Given the description of an element on the screen output the (x, y) to click on. 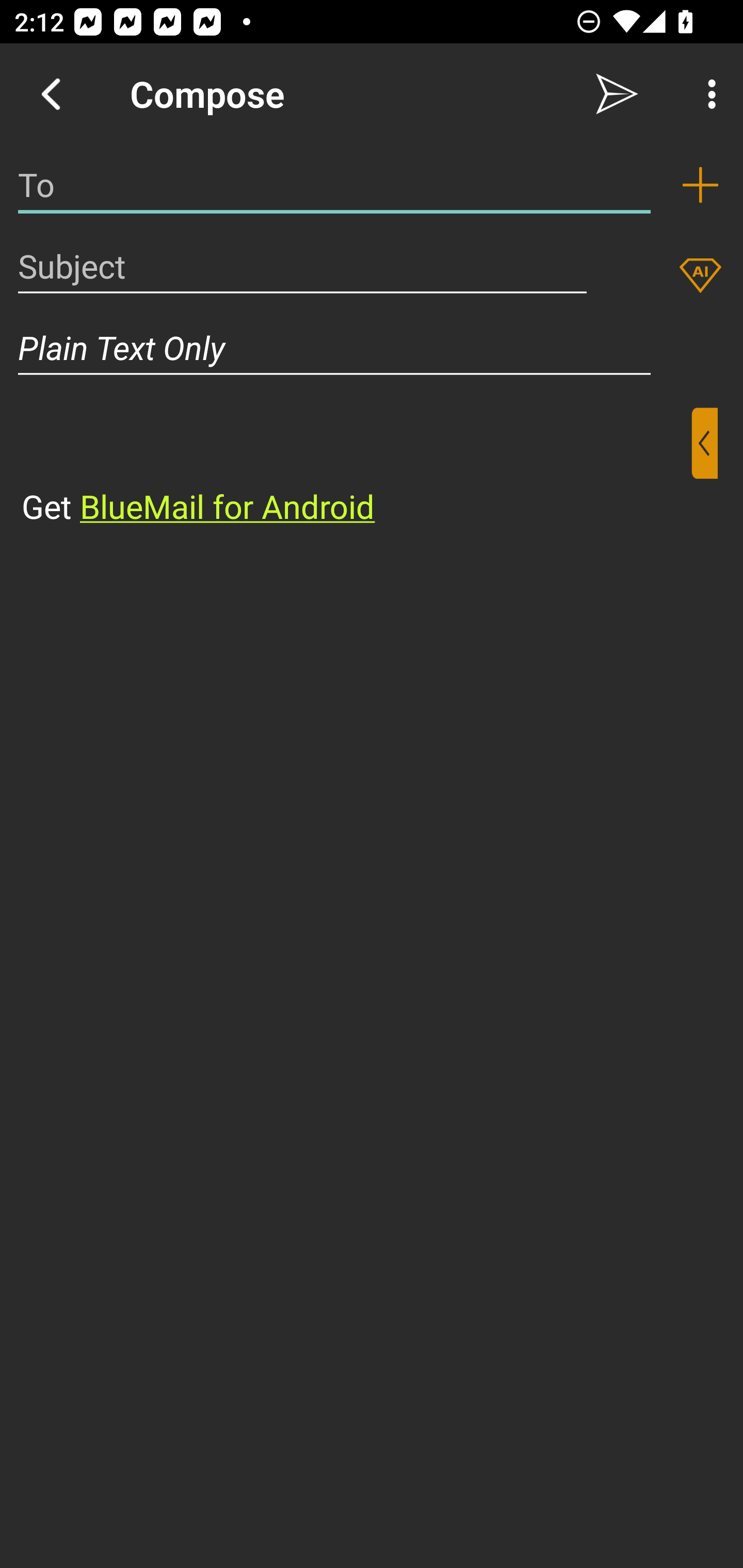
Navigate up (50, 93)
Send (616, 93)
More Options (706, 93)
To (334, 184)
Add recipient (To) (699, 184)
Subject (302, 266)
Plain Text Only (371, 347)


⁣Get BlueMail for Android ​ (355, 468)
